Given the description of an element on the screen output the (x, y) to click on. 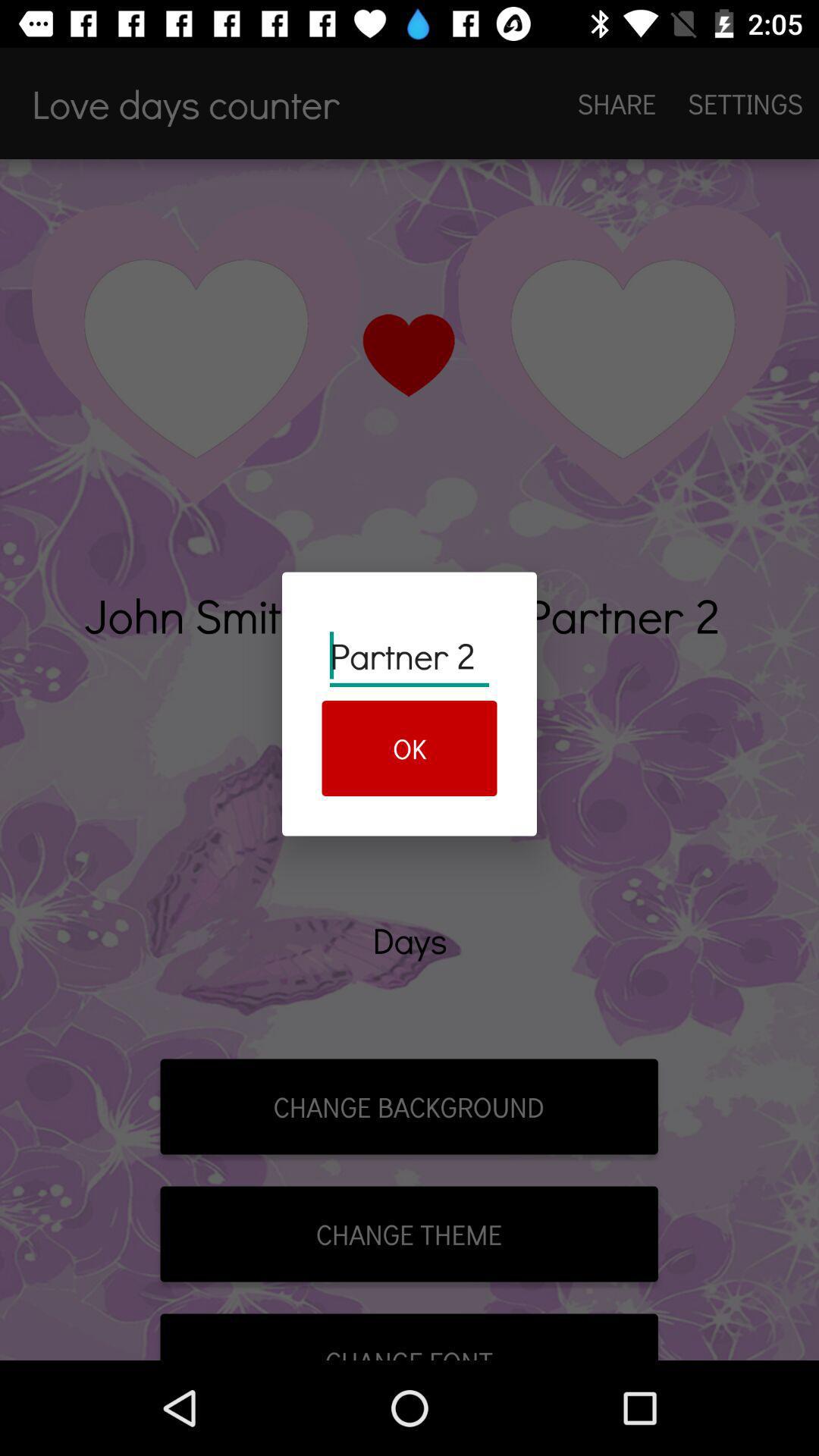
jump to the partner 2 item (409, 655)
